Given the description of an element on the screen output the (x, y) to click on. 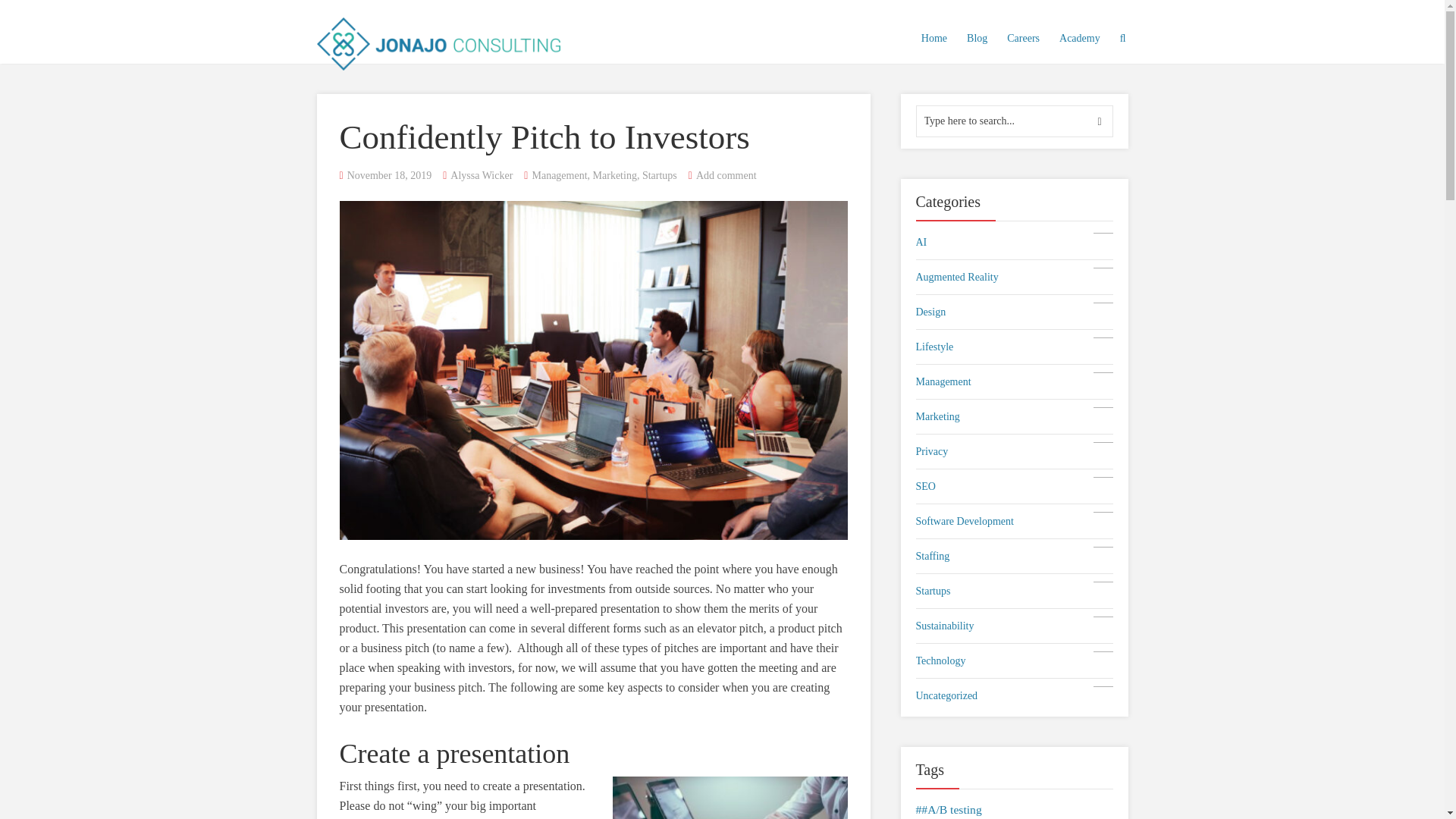
several different forms (585, 627)
Startups (659, 174)
Add comment (726, 174)
Alyssa Wicker (480, 174)
Type here to search... (1014, 121)
Marketing (614, 174)
Type here to search... (1014, 451)
The Jonajo Blog (1014, 241)
Management (1014, 416)
